Given the description of an element on the screen output the (x, y) to click on. 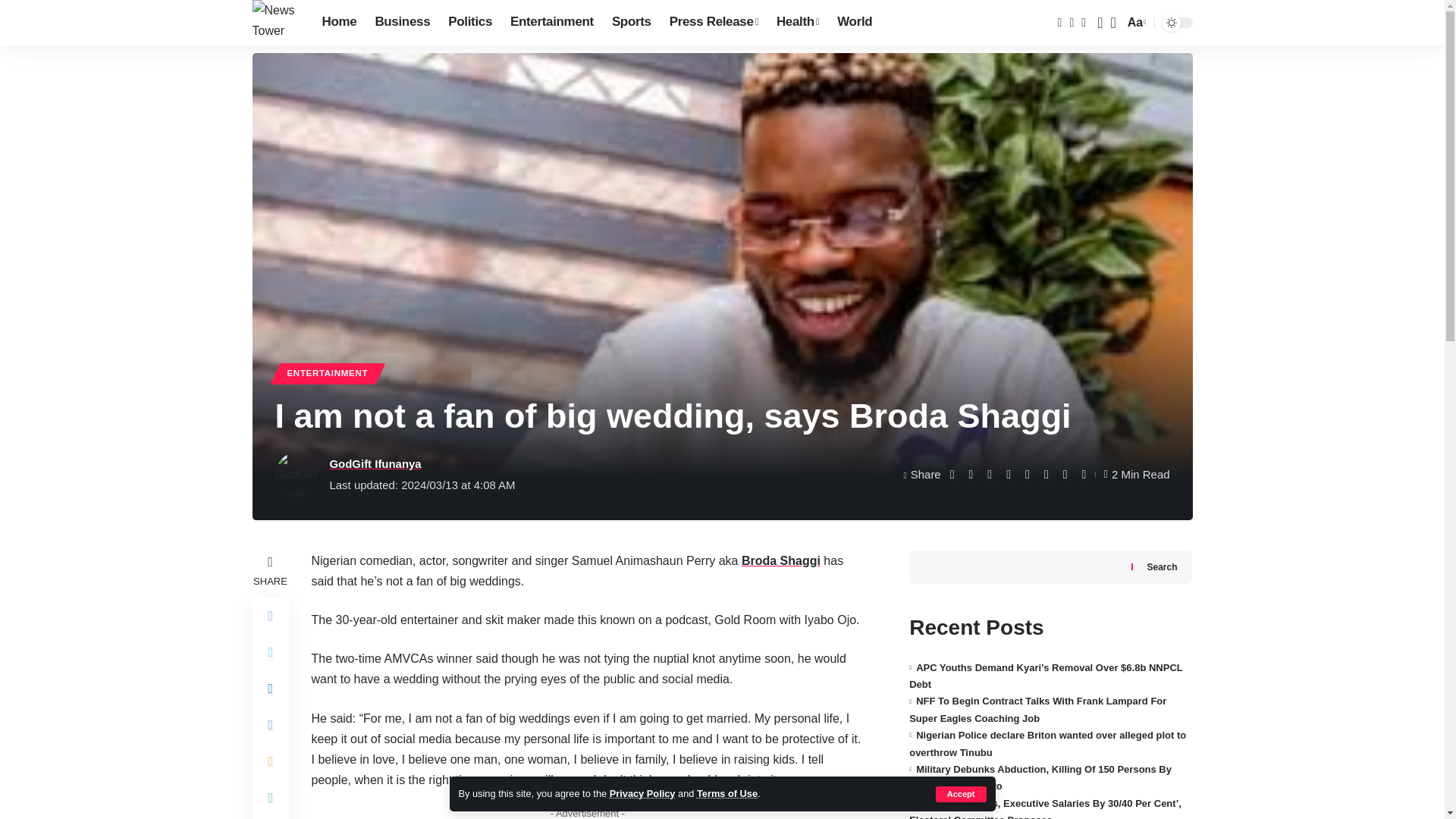
Accept (961, 794)
Entertainment (551, 22)
Sports (631, 22)
Health (797, 22)
Press Release (714, 22)
Aa (1135, 22)
Business (402, 22)
Terms of Use (727, 793)
Home (339, 22)
News Tower Hub (274, 22)
